Given the description of an element on the screen output the (x, y) to click on. 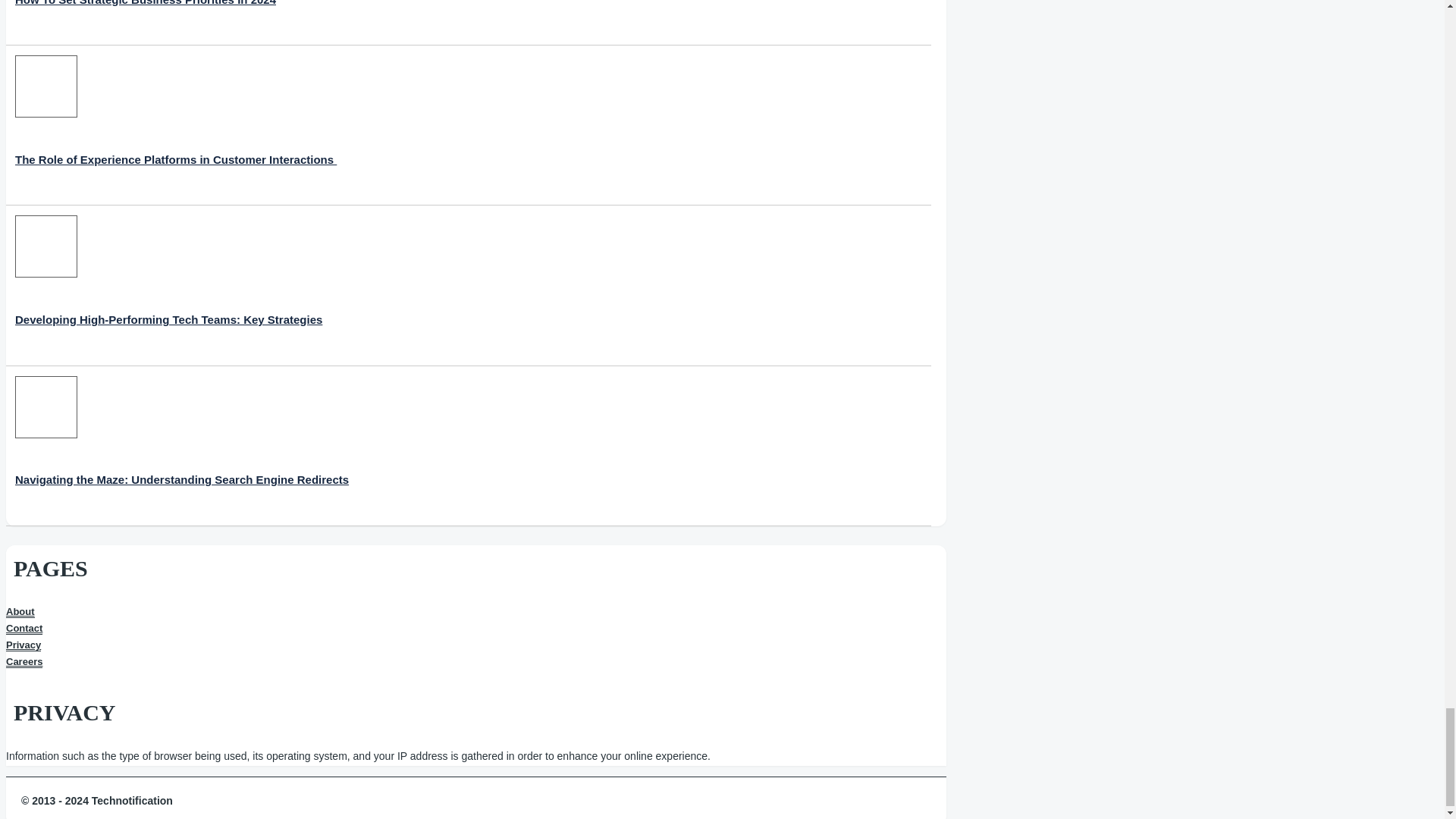
Navigating the Maze: Understanding Search Engine Redirects (181, 445)
The Role of Experience Platforms in Customer Interactions  (175, 125)
How To Set Strategic Business Priorities In 2024 (145, 18)
Developing High-Performing Tech Teams: Key Strategies (167, 285)
